Given the description of an element on the screen output the (x, y) to click on. 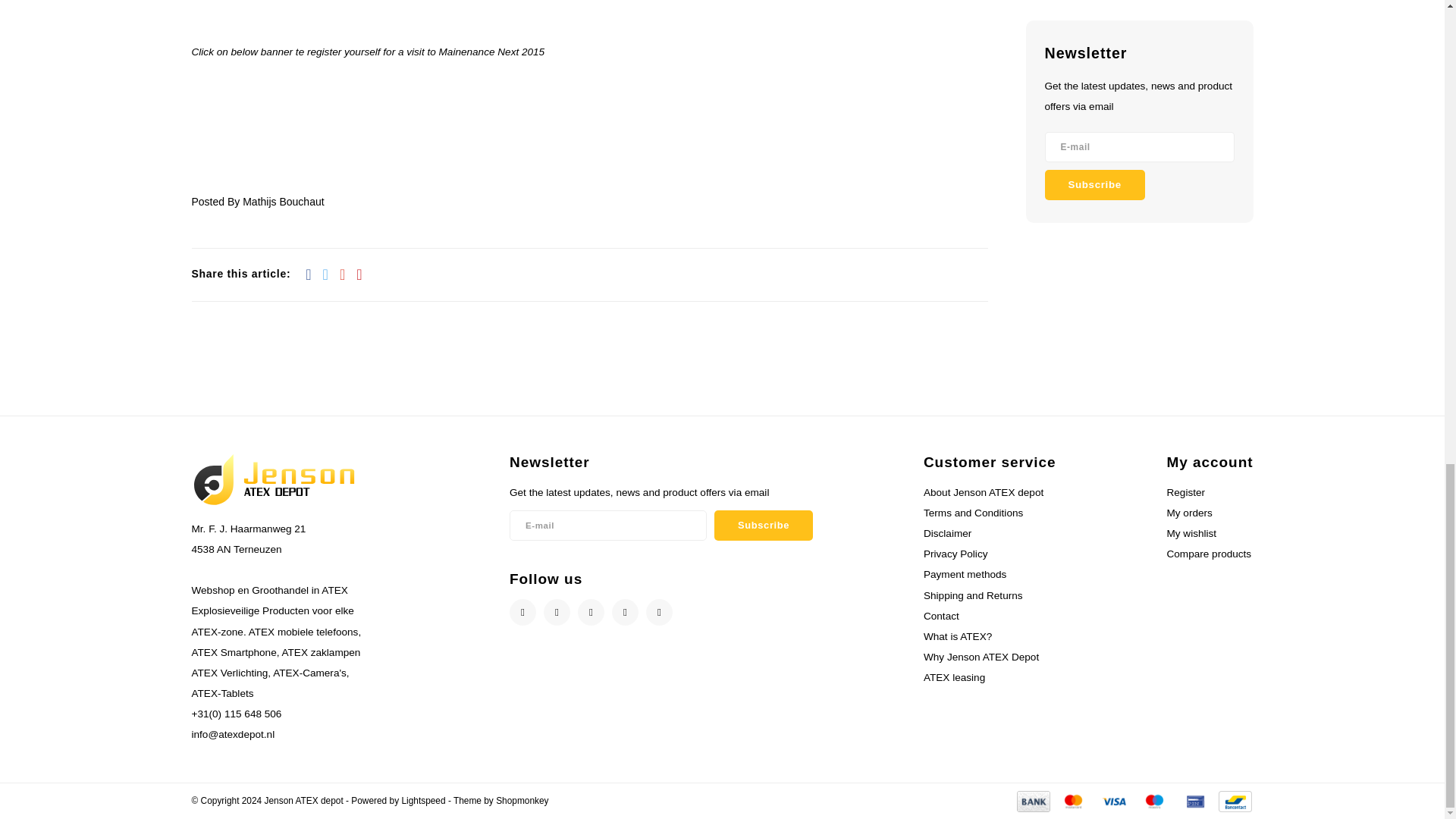
Instagram Jenson ATEX depot (591, 611)
My wishlist (1190, 532)
Subscribe (763, 525)
Register (1185, 491)
Subscribe (1094, 184)
Payment methods (1072, 800)
My orders (1188, 512)
Lightspeed (423, 800)
Payment methods (1032, 800)
